Given the description of an element on the screen output the (x, y) to click on. 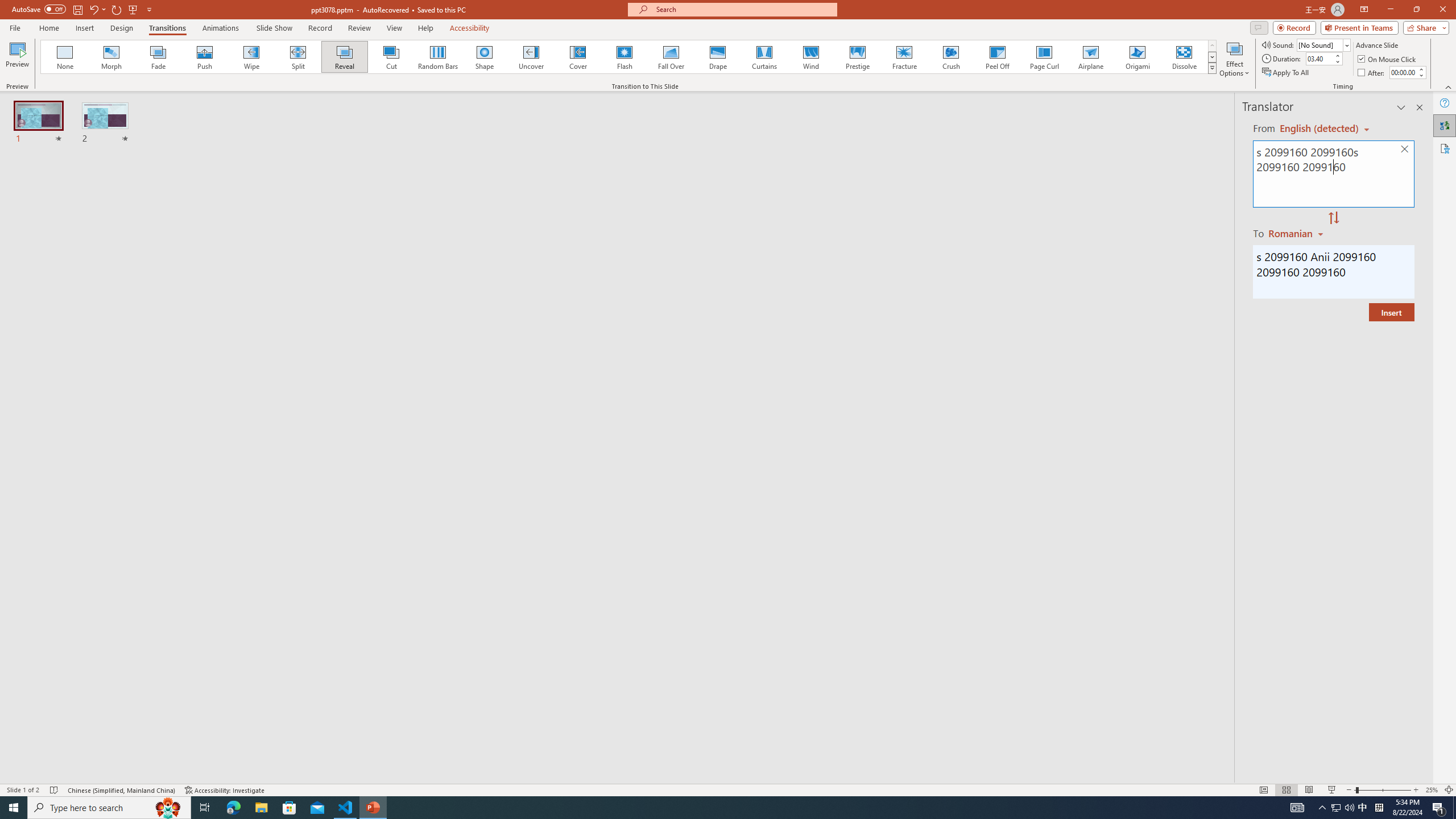
Effect Options (1234, 58)
After (1403, 72)
None (65, 56)
Transition Effects (1212, 67)
Random Bars (437, 56)
